Given the description of an element on the screen output the (x, y) to click on. 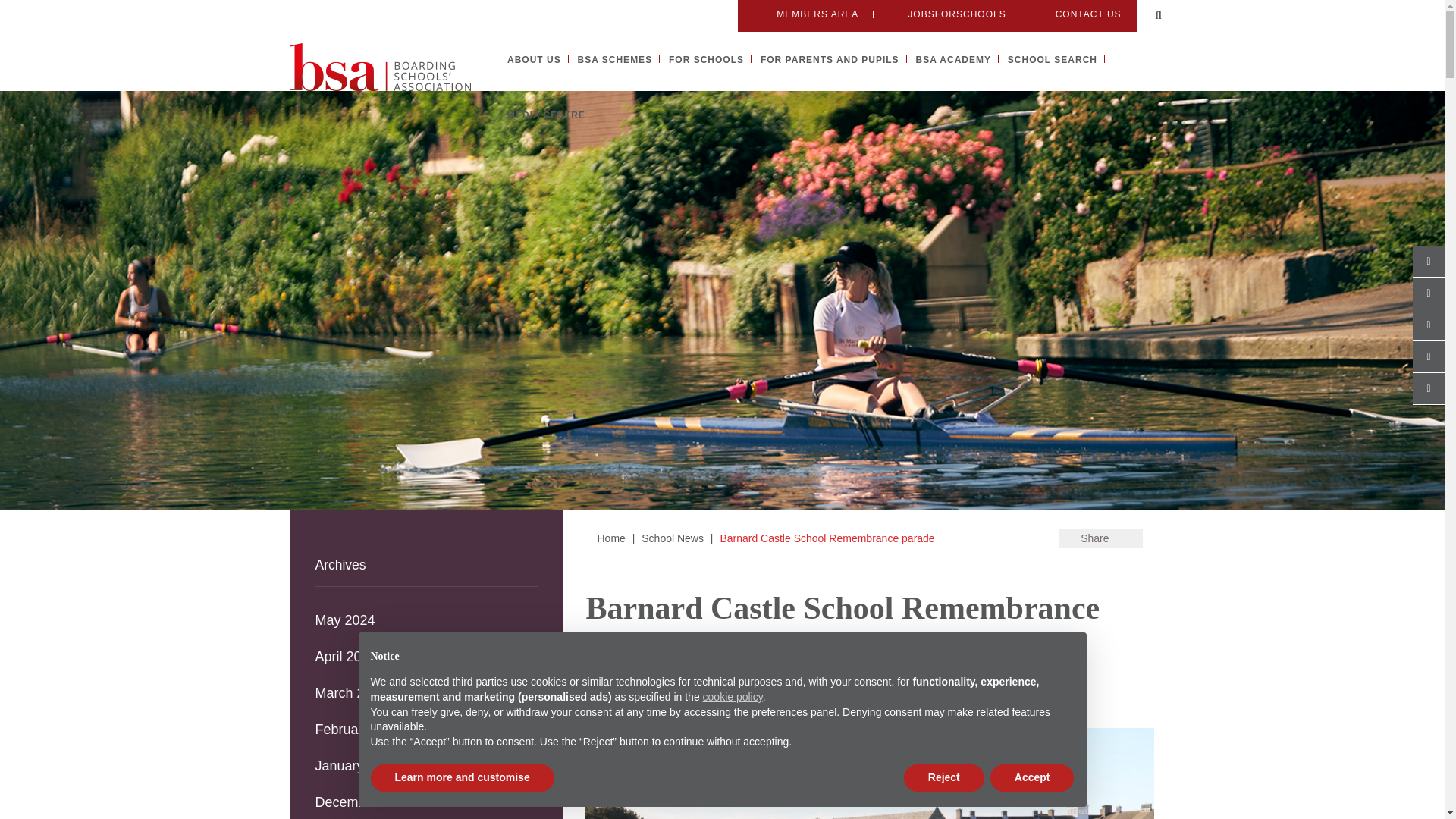
ABOUT US (533, 59)
Go to The Boarding Schools' Association. (610, 538)
Go to School News. (672, 538)
FOR SCHOOLS (706, 59)
JOBSFORSCHOOLS (947, 14)
FOR PARENTS AND PUPILS (829, 59)
BSA SCHEMES (615, 59)
CONTACT US (1078, 14)
